Given the description of an element on the screen output the (x, y) to click on. 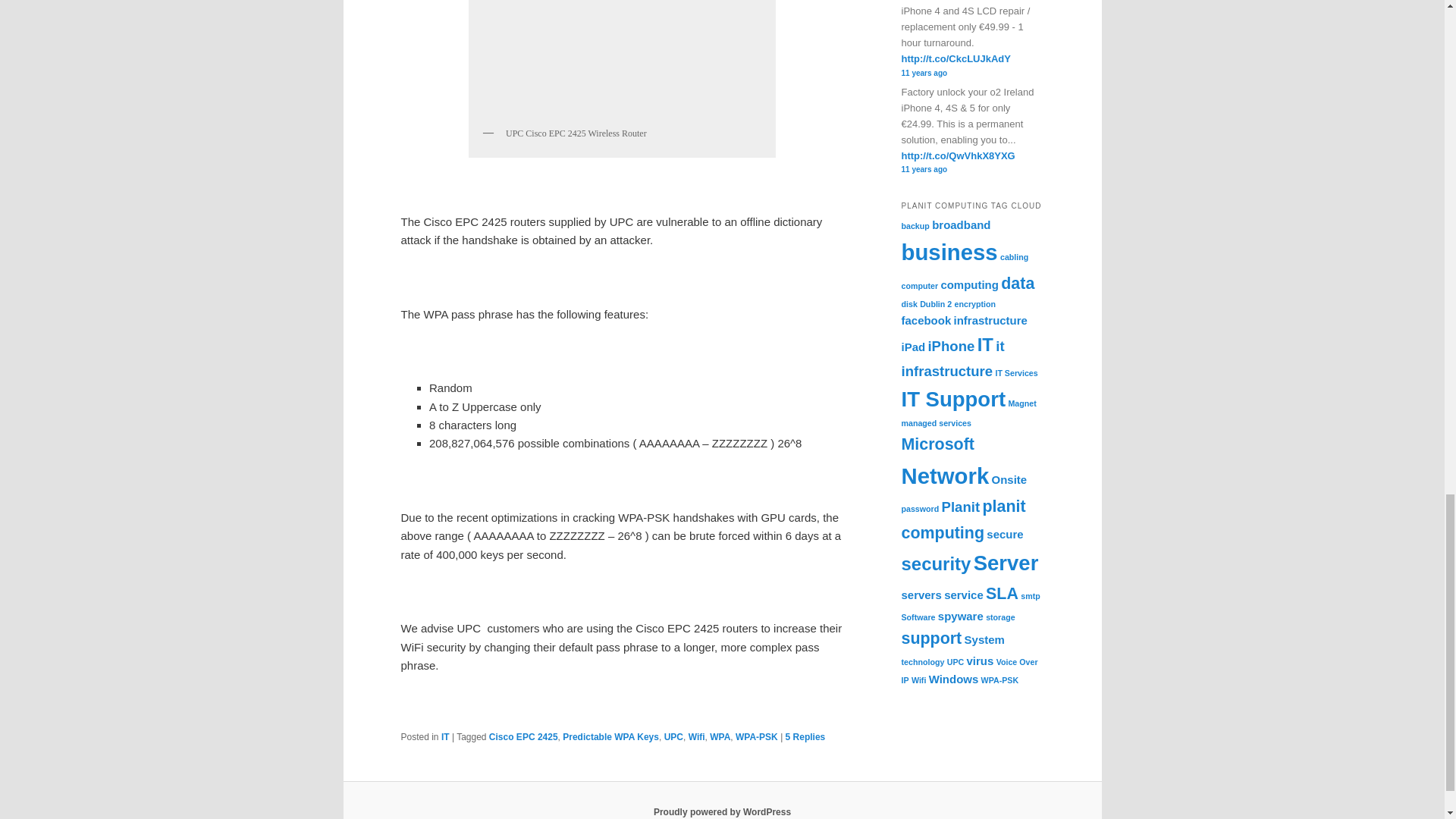
5 Replies (805, 737)
WPA (720, 737)
Semantic Personal Publishing Platform (721, 811)
UPC (672, 737)
WPA-PSK (756, 737)
Cisco EPC 2425 (523, 737)
Predictable WPA Keys (610, 737)
Wifi (696, 737)
IT (445, 737)
UPC Cisco EPC 2425 Wireless Router (617, 59)
